Given the description of an element on the screen output the (x, y) to click on. 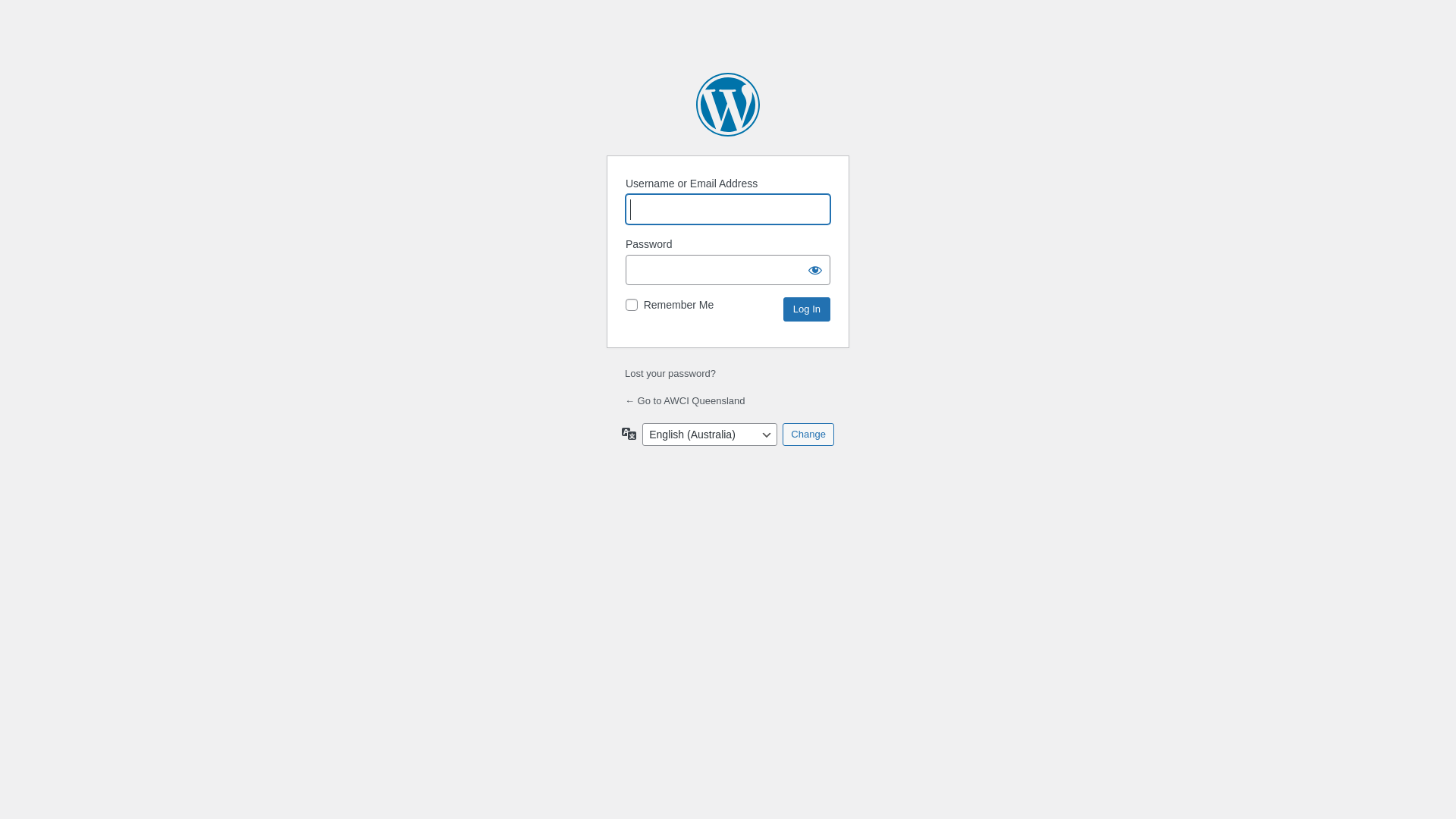
Powered by WordPress Element type: text (727, 104)
Log In Element type: text (806, 309)
Lost your password? Element type: text (669, 373)
Change Element type: text (808, 434)
